Given the description of an element on the screen output the (x, y) to click on. 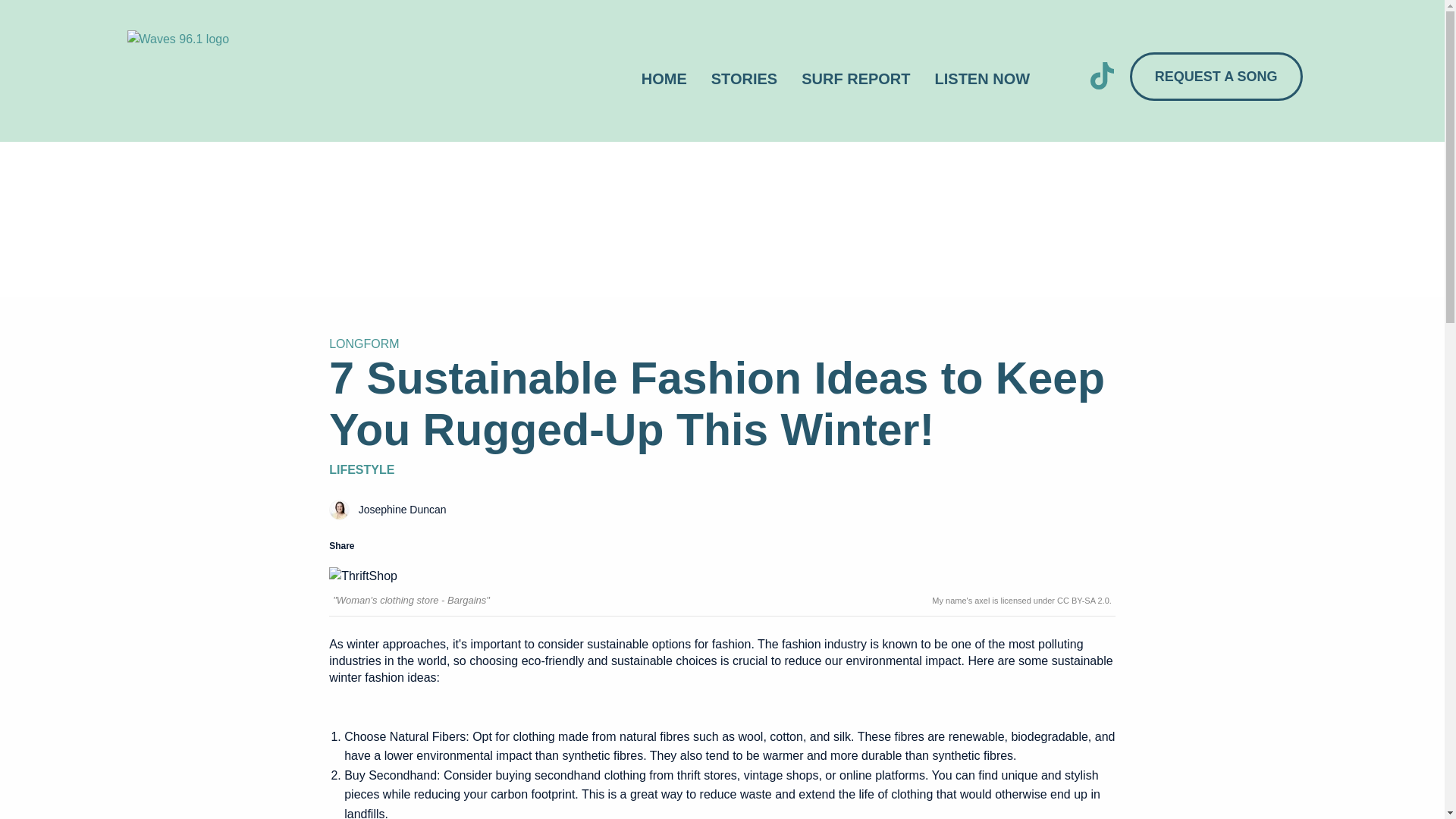
REQUEST A SONG (1216, 76)
Josephine Duncan (395, 508)
STORIES (743, 78)
SURF REPORT (855, 78)
LISTEN NOW (982, 78)
LIFESTYLE (361, 469)
HOME (663, 78)
LONGFORM (363, 343)
ThriftShop (363, 576)
